Given the description of an element on the screen output the (x, y) to click on. 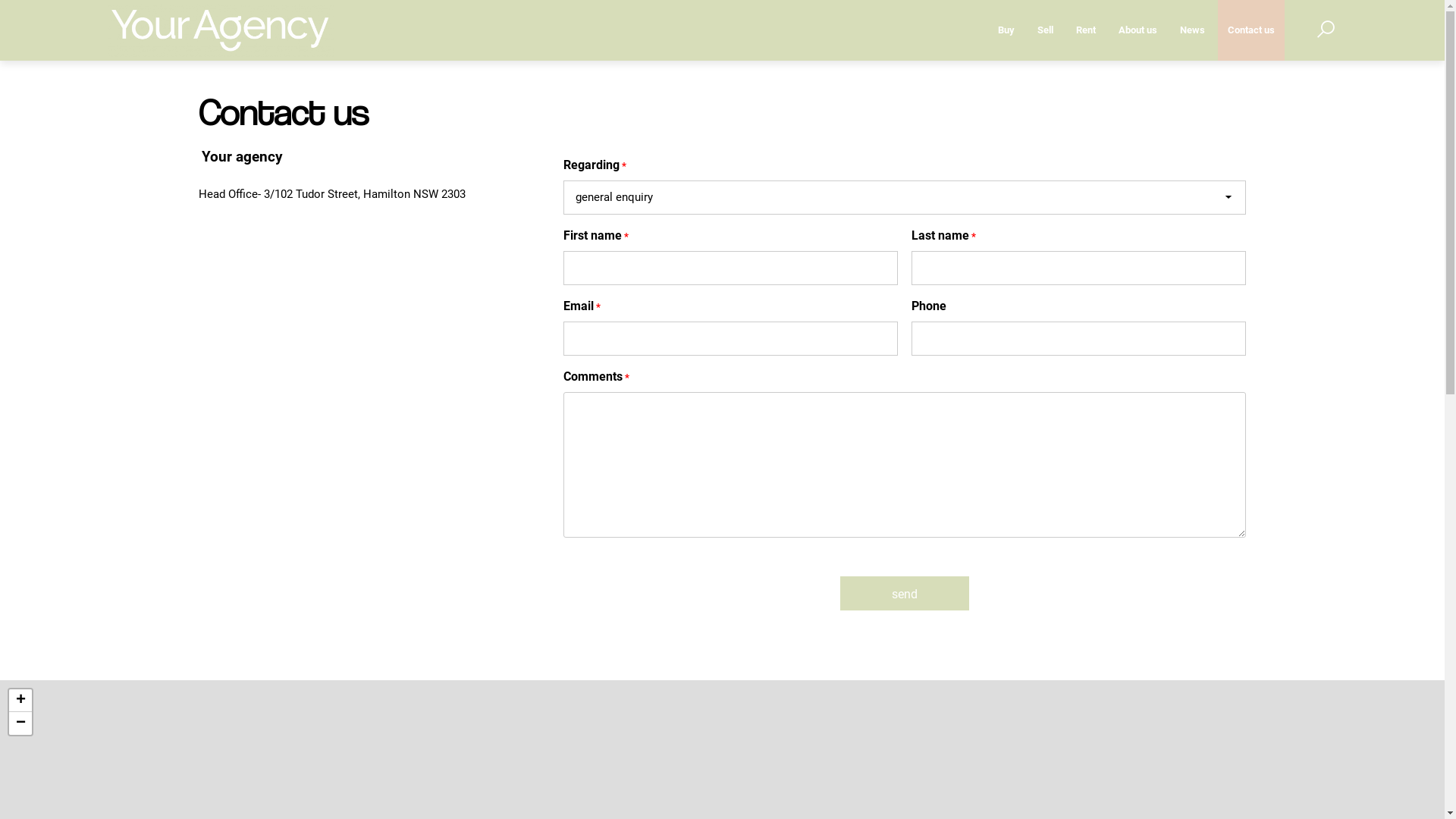
Search Element type: text (1285, 80)
contact us Element type: text (1250, 30)
+ Element type: text (20, 700)
about us Element type: text (1137, 30)
SEND Element type: text (904, 593)
buy Element type: text (1006, 30)
rent Element type: text (1085, 30)
news Element type: text (1192, 30)
sell Element type: text (1045, 30)
